Given the description of an element on the screen output the (x, y) to click on. 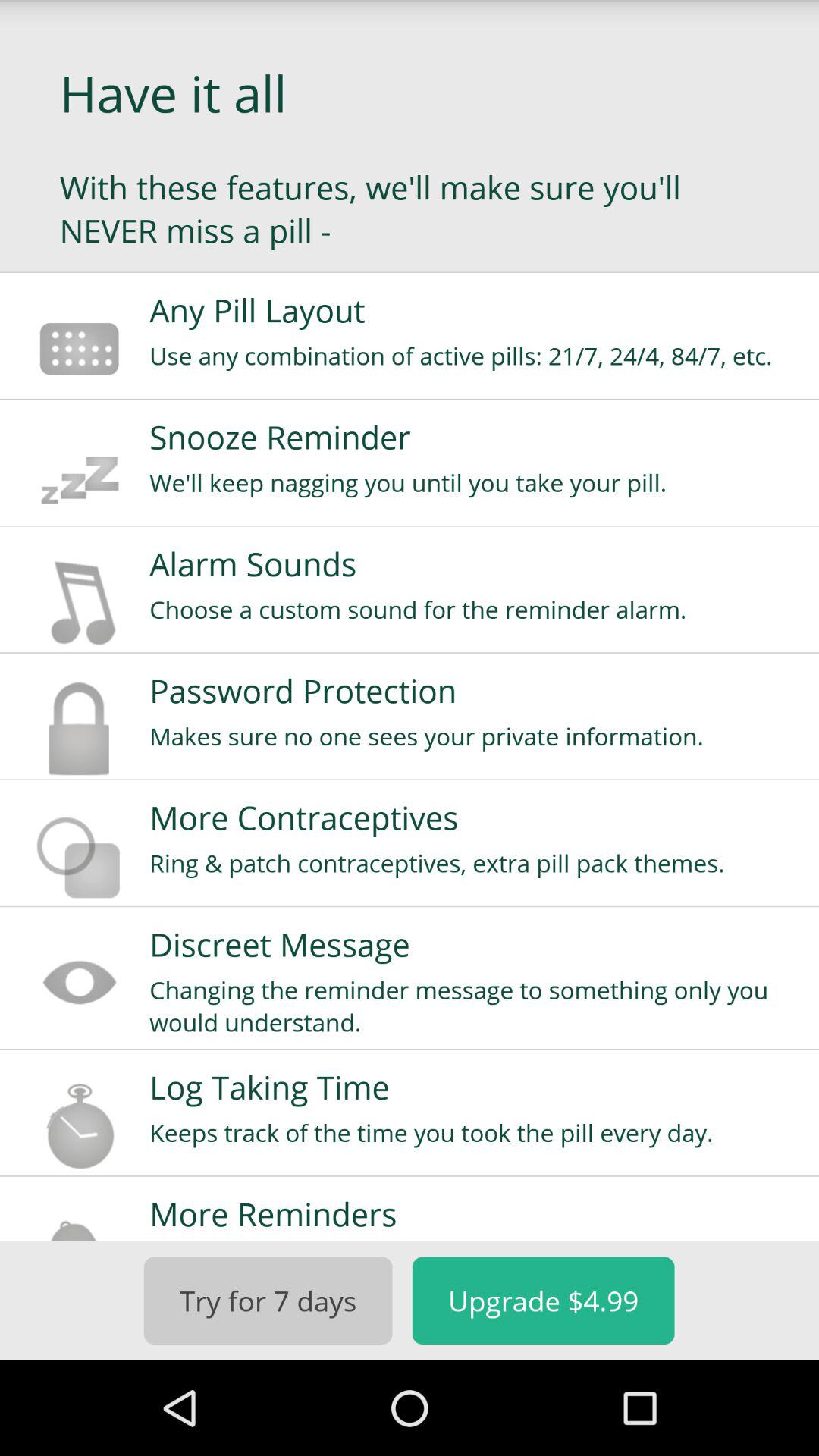
turn off app below choose a custom (474, 690)
